Given the description of an element on the screen output the (x, y) to click on. 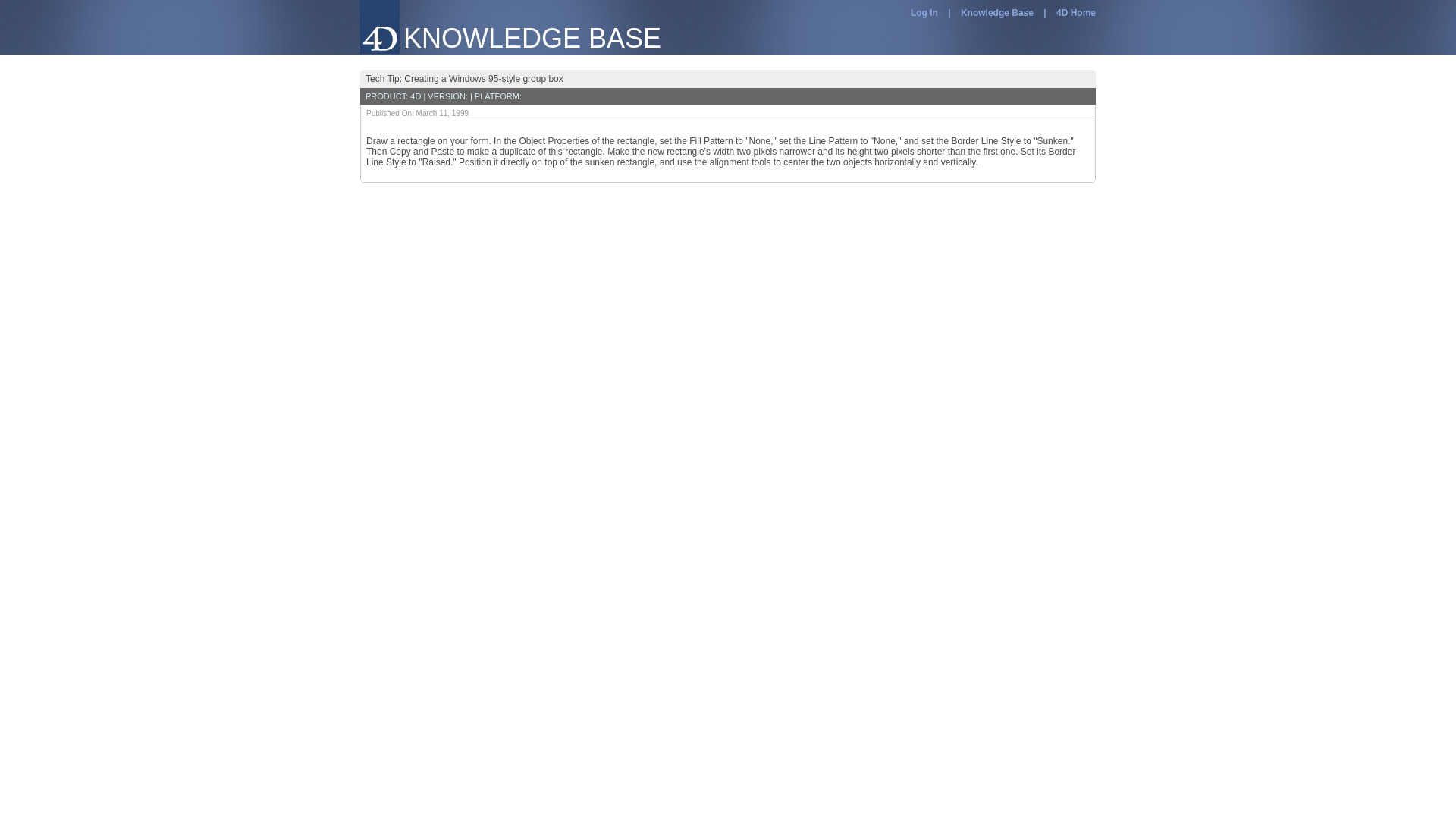
4D Home (1076, 12)
Log In (924, 12)
Knowledge Base (996, 12)
